Given the description of an element on the screen output the (x, y) to click on. 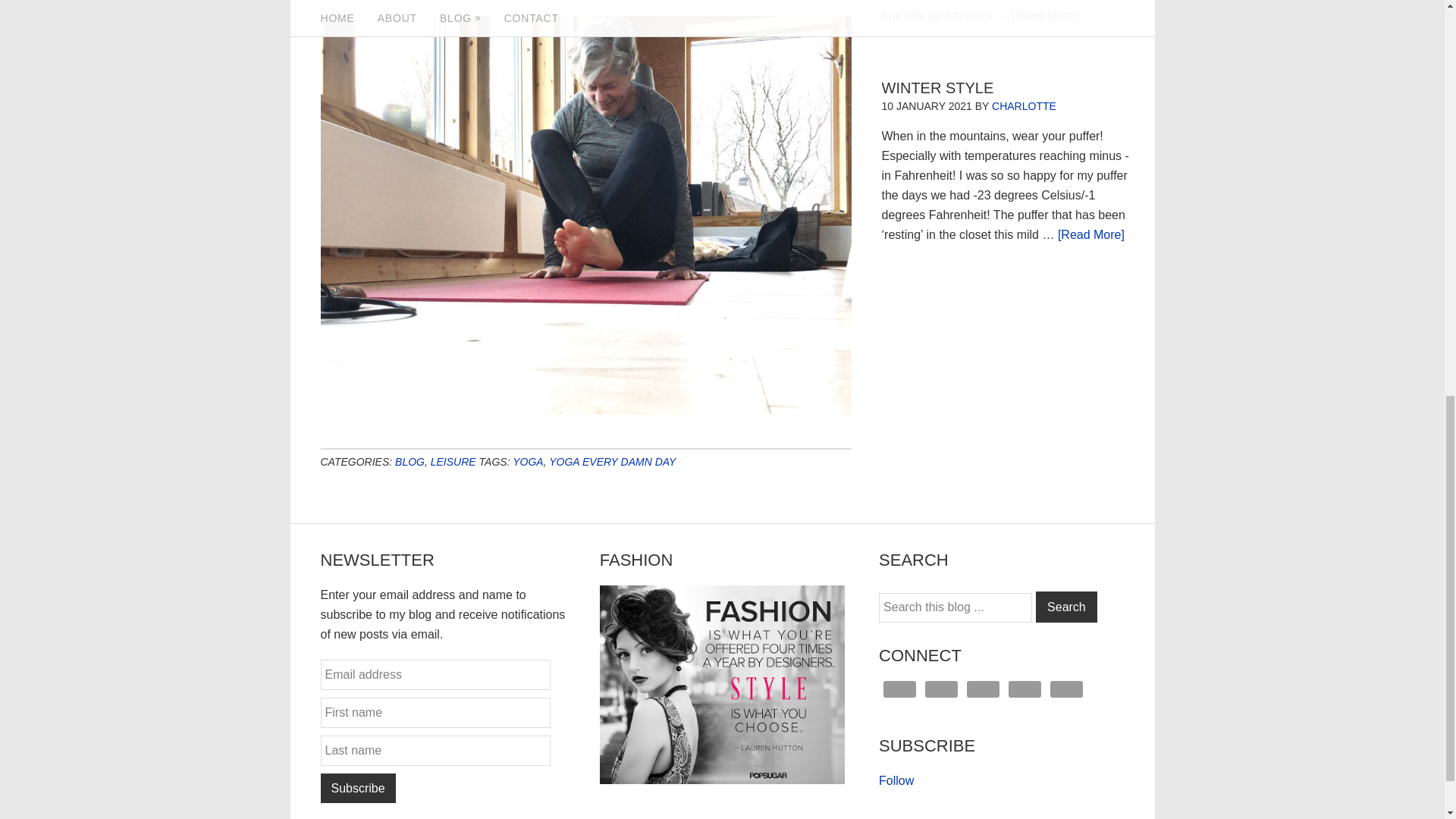
Search (1066, 606)
WINTER STYLE (936, 87)
BLOG (409, 460)
Subscribe (357, 788)
LEISURE (453, 460)
Search (1066, 606)
CHARLOTTE (1024, 105)
YOGA (527, 460)
YOGA EVERY DAMN DAY (611, 460)
Subscribe (357, 788)
Search (1066, 606)
